Given the description of an element on the screen output the (x, y) to click on. 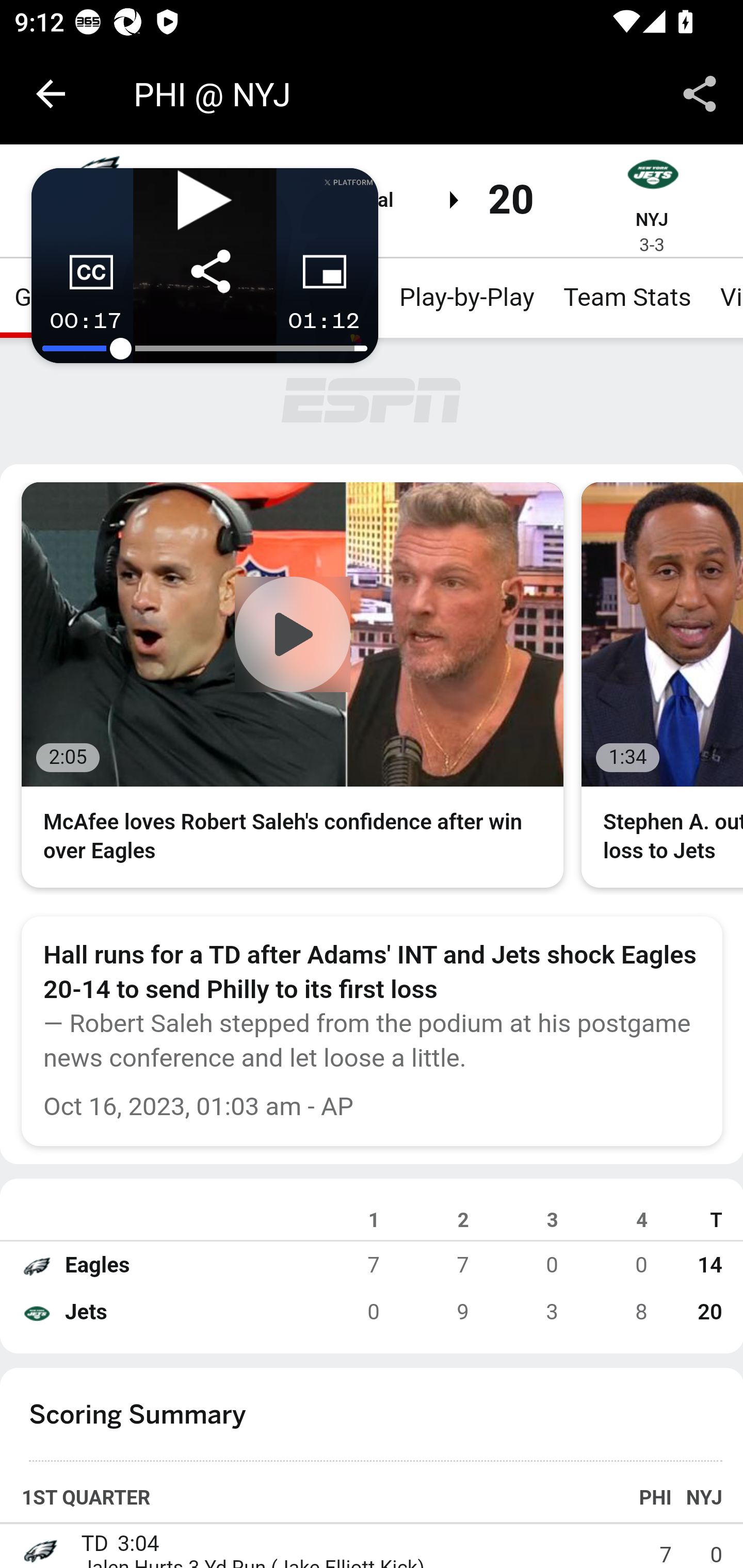
Navigate up (50, 93)
Share (699, 93)
New York Jets (651, 177)
PHI (91, 219)
NYJ (651, 219)
Box Score (314, 296)
Play-by-Play (466, 296)
Team Stats (627, 296)
Philadelphia Eagles (36, 1266)
New York Jets (36, 1313)
Philadelphia Eagles (39, 1549)
